Given the description of an element on the screen output the (x, y) to click on. 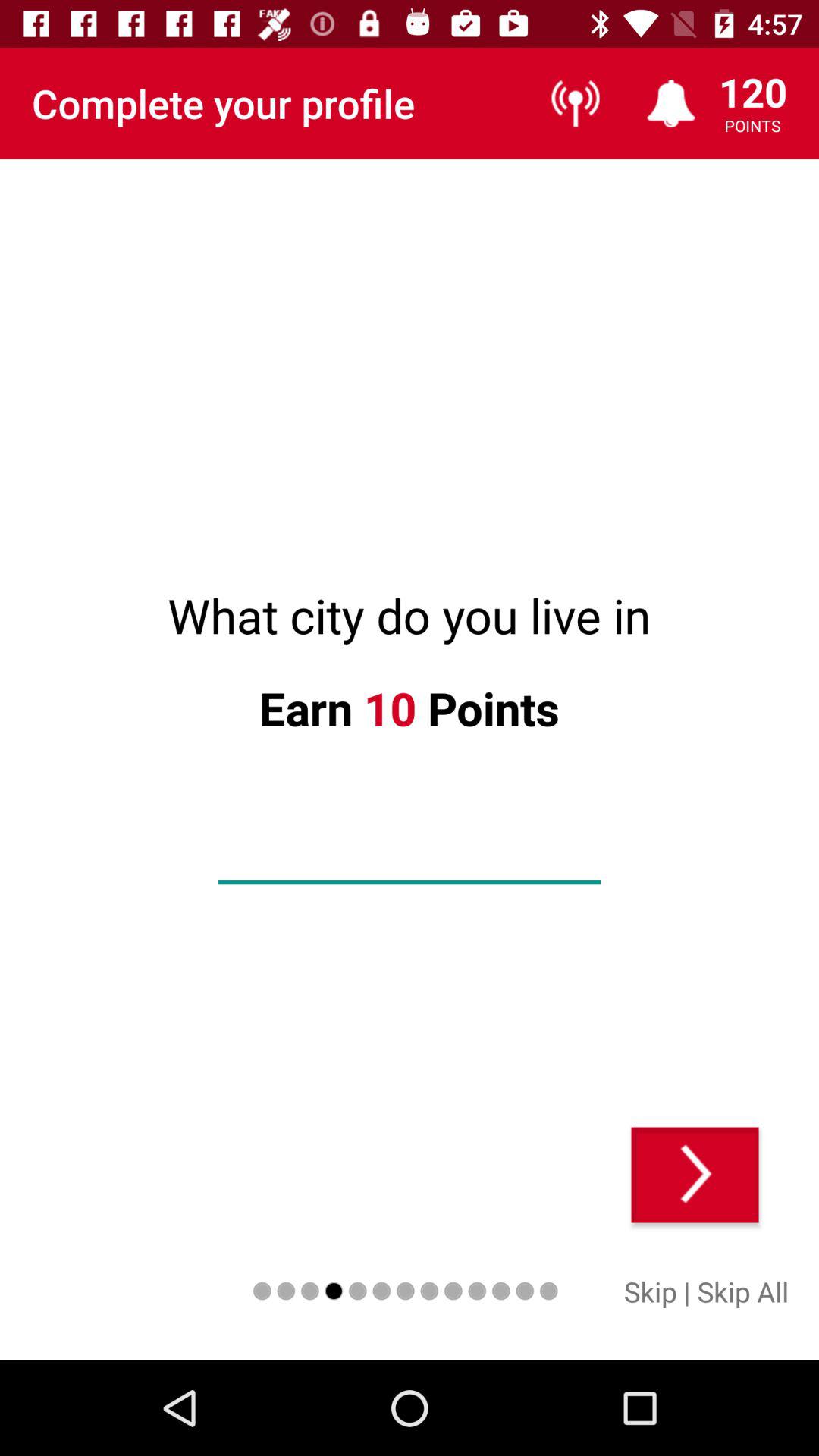
enter city (409, 858)
